Given the description of an element on the screen output the (x, y) to click on. 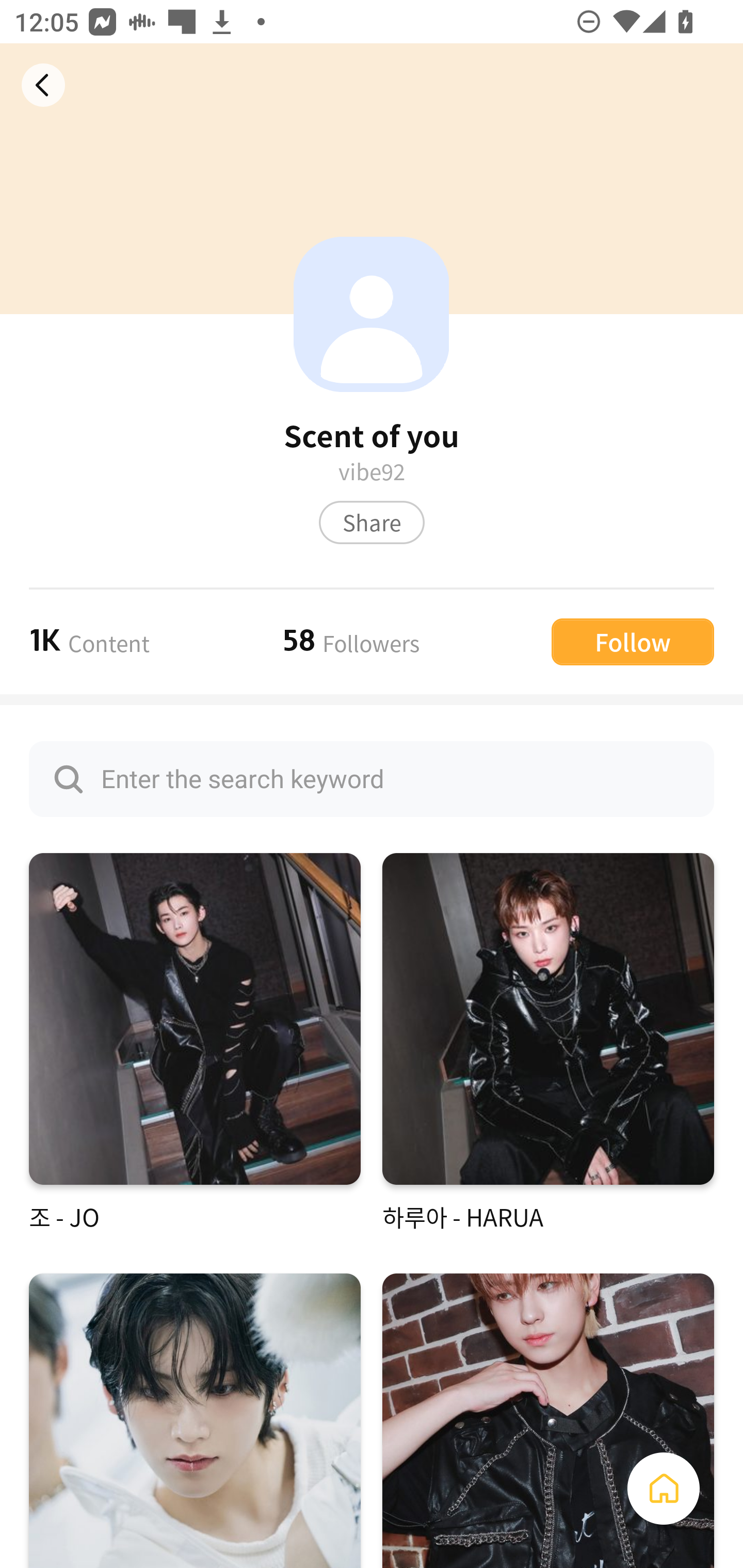
Share (371, 522)
Follow (632, 640)
Enter the search keyword (371, 778)
조  -  JO (194, 1043)
하루아  -  HARUA (548, 1043)
